Given the description of an element on the screen output the (x, y) to click on. 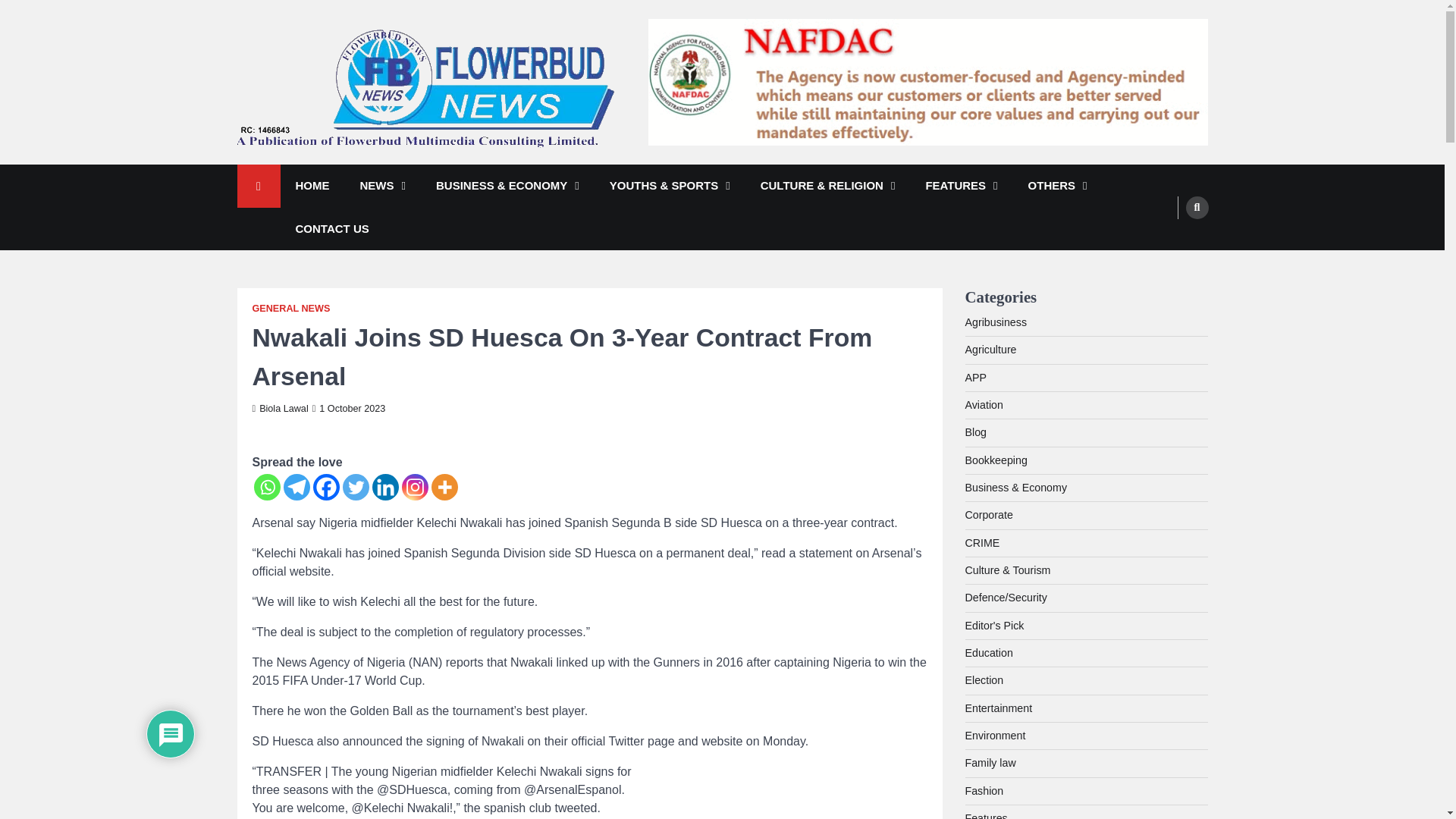
Telegram (296, 487)
HOME (313, 186)
FEATURES (960, 186)
flowerbudnews.ng (335, 168)
OTHERS (1057, 186)
Search (1197, 206)
Linkedin (384, 487)
NEWS (381, 186)
Twitter (355, 487)
Whatsapp (266, 487)
More (443, 487)
Instagram (414, 487)
Facebook (326, 487)
